Given the description of an element on the screen output the (x, y) to click on. 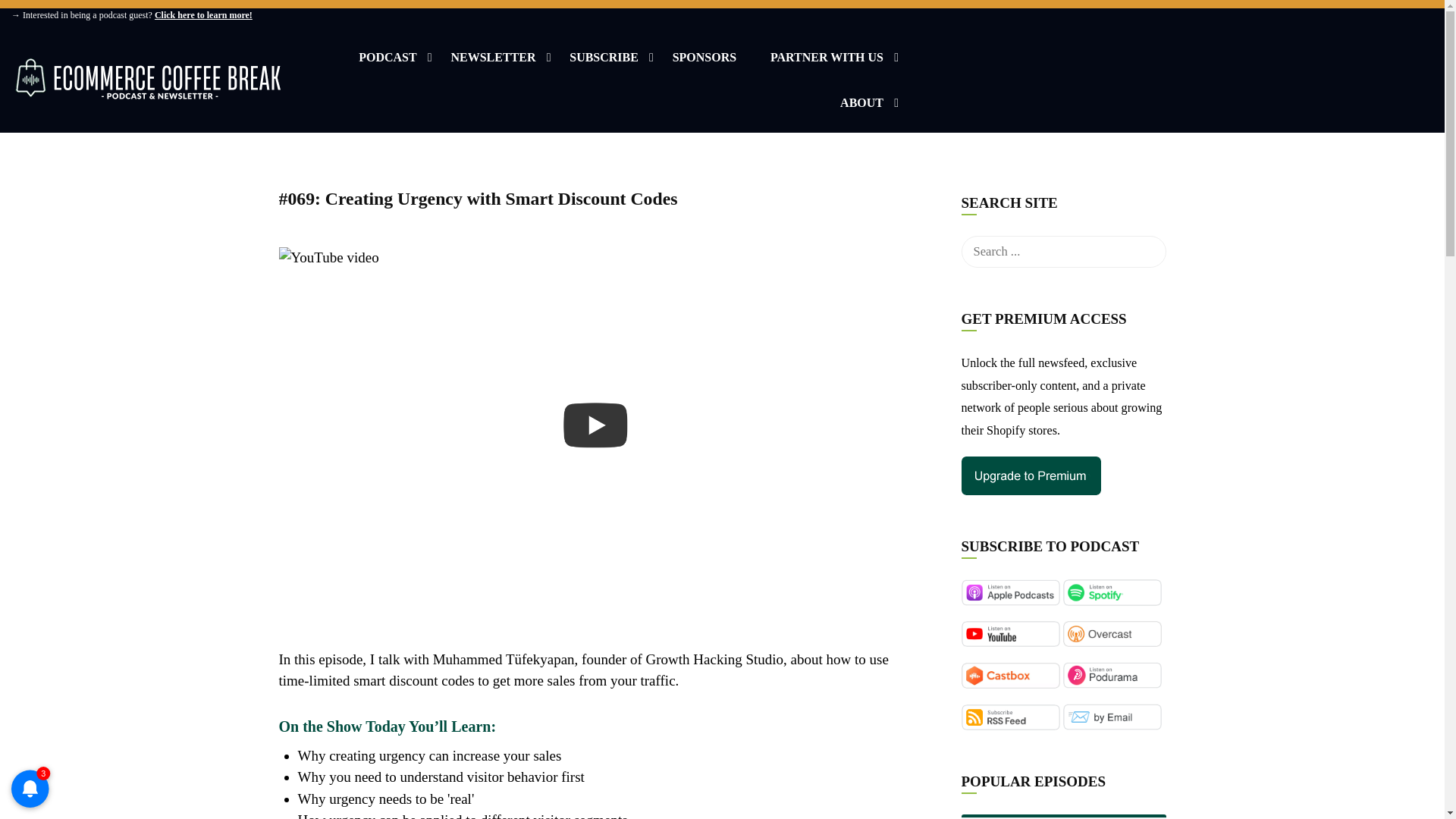
SPONSORS (704, 63)
ABOUT (861, 109)
Click here to learn more! (202, 14)
SUBSCRIBE (603, 63)
PODCAST (386, 63)
NEWSLETTER (492, 63)
PARTNER WITH US (826, 63)
